Given the description of an element on the screen output the (x, y) to click on. 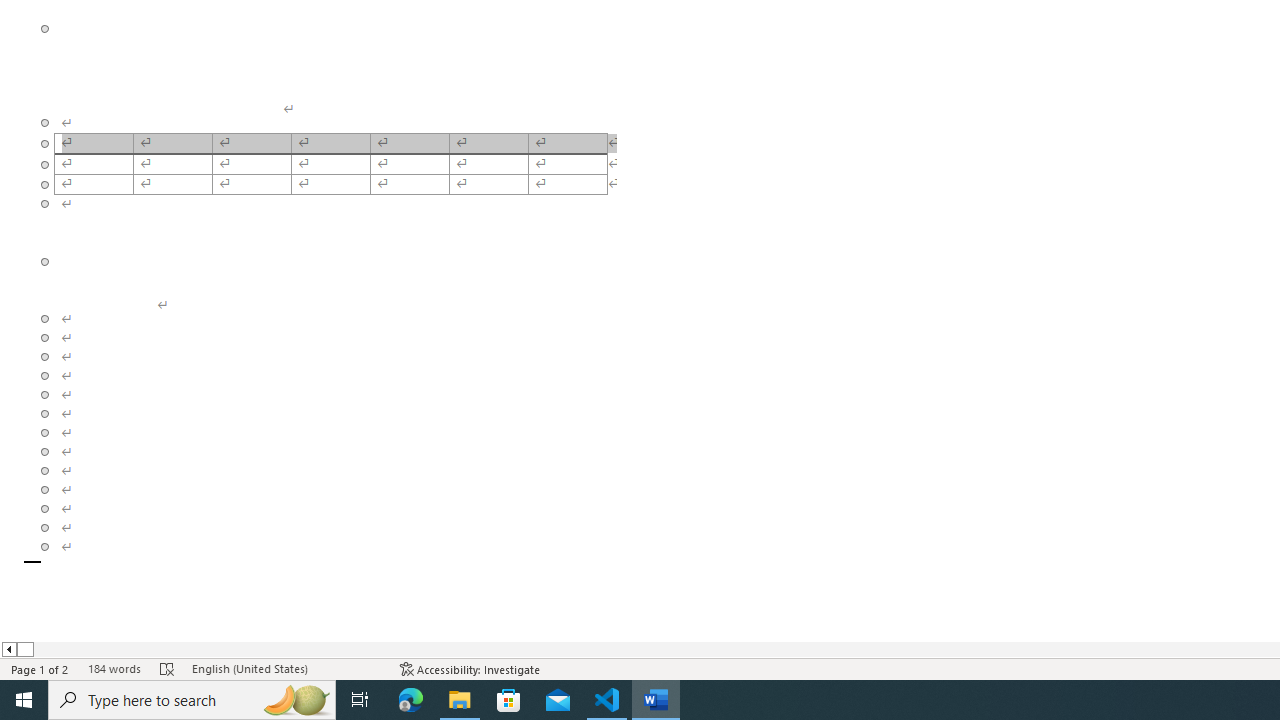
Page Number Page 1 of 2 (39, 668)
Word Count 184 words (113, 668)
Column left (8, 649)
